Given the description of an element on the screen output the (x, y) to click on. 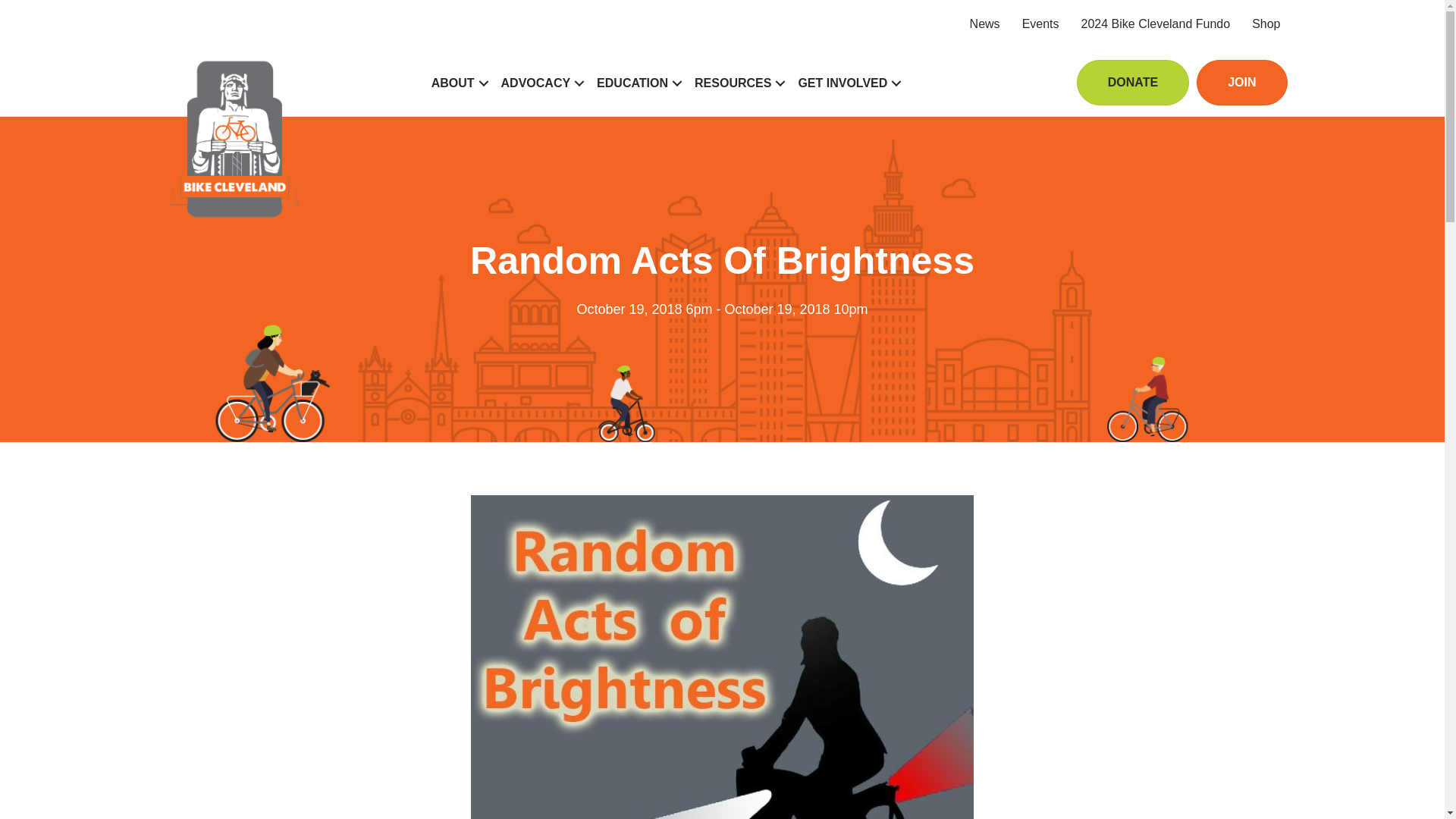
GET INVOLVED (847, 83)
ABOUT (458, 83)
2024 Bike Cleveland Fundo (1155, 23)
Events (1040, 23)
RESOURCES (738, 83)
News (984, 23)
EDUCATION (637, 83)
Shop (1265, 23)
ADVOCACY (541, 83)
